Given the description of an element on the screen output the (x, y) to click on. 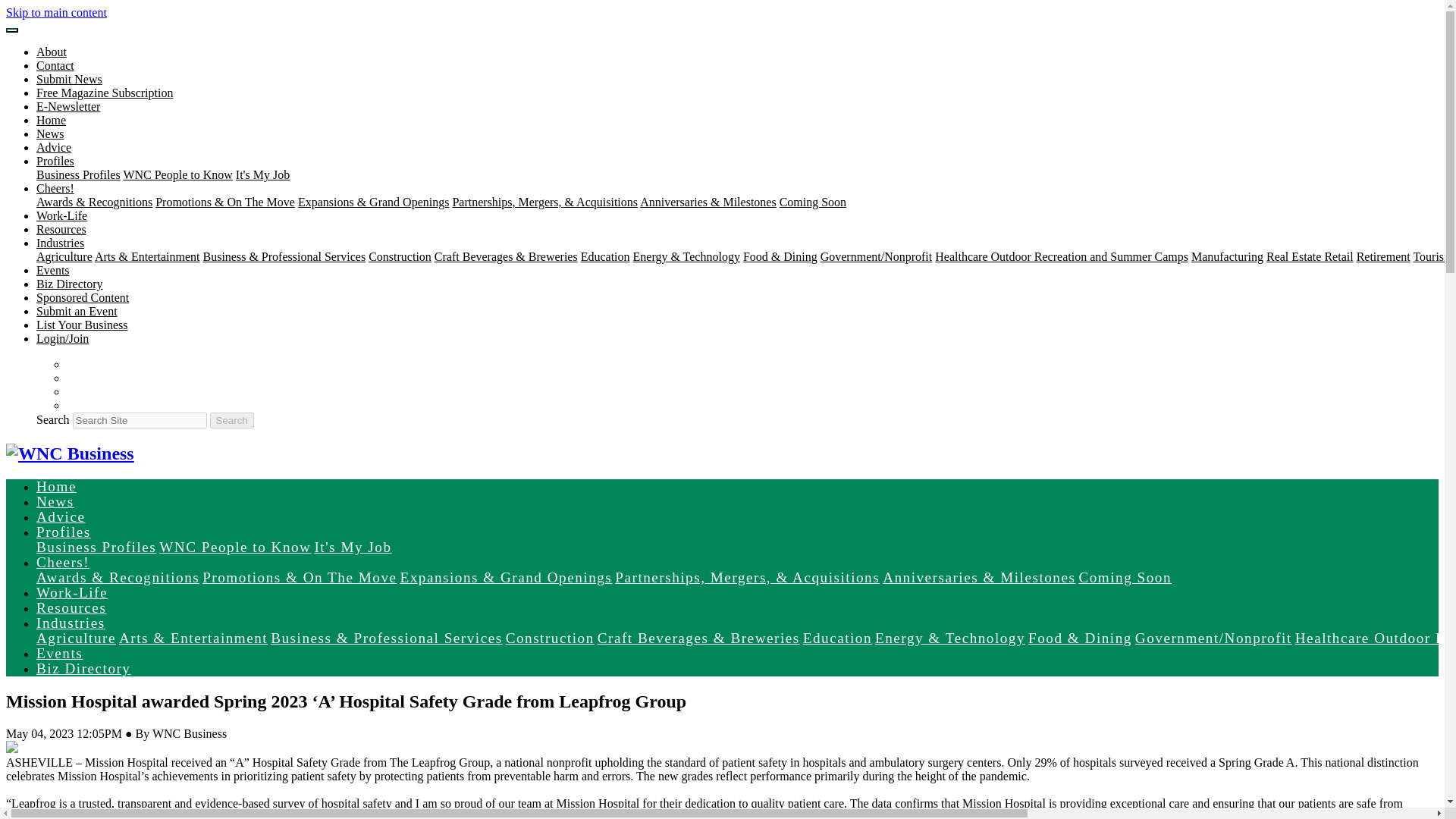
Agriculture (64, 256)
Education (605, 256)
Healthcare (962, 256)
E-Newsletter (68, 106)
Cheers! (55, 187)
Contact (55, 65)
Profiles (55, 160)
Skip to main content (55, 11)
It's My Job (262, 174)
Retail (1337, 256)
